Given the description of an element on the screen output the (x, y) to click on. 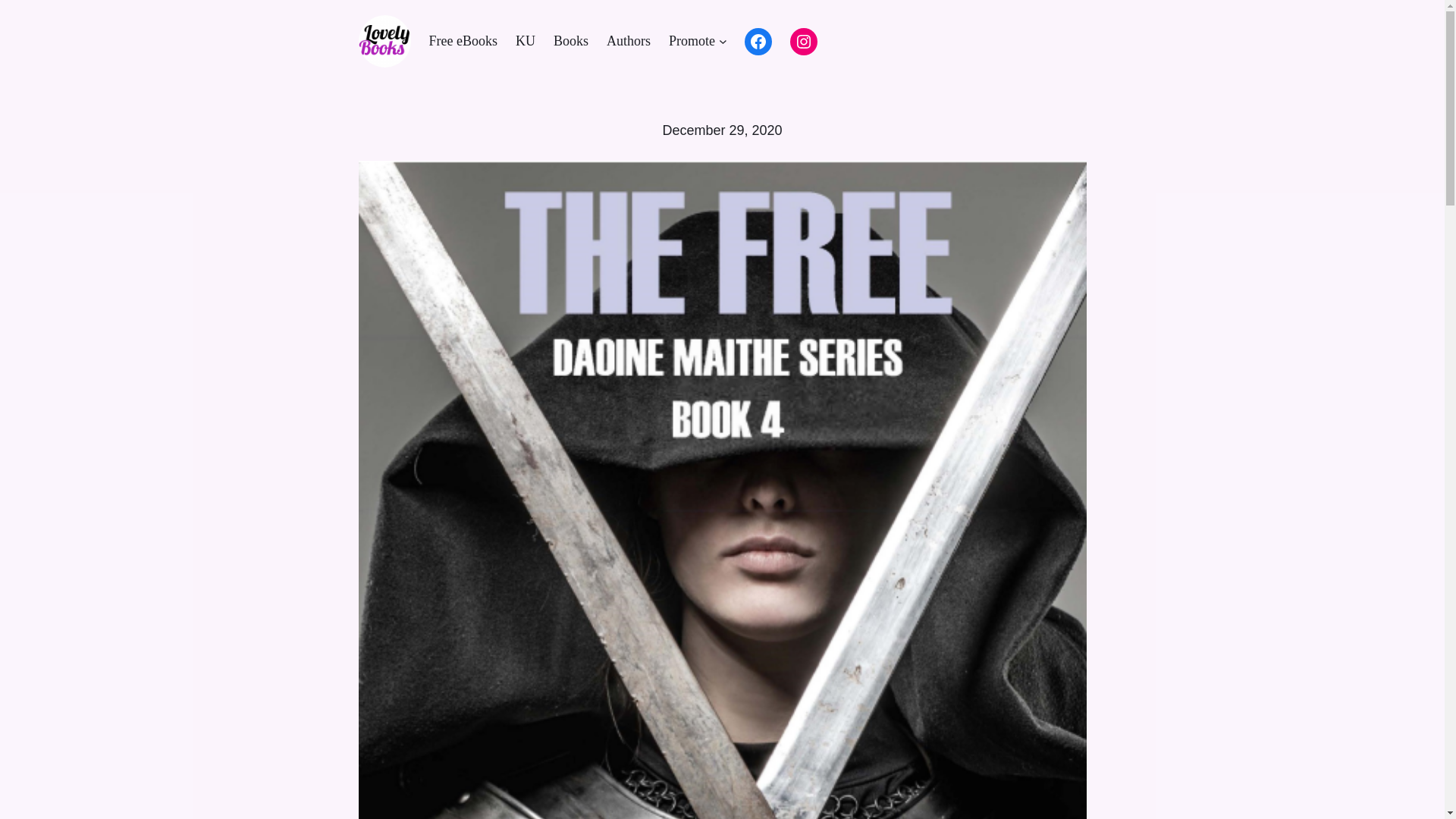
Promote (691, 41)
Authors (628, 41)
Books (570, 41)
Instagram (803, 40)
Facebook (757, 40)
Free eBooks (463, 41)
